Given the description of an element on the screen output the (x, y) to click on. 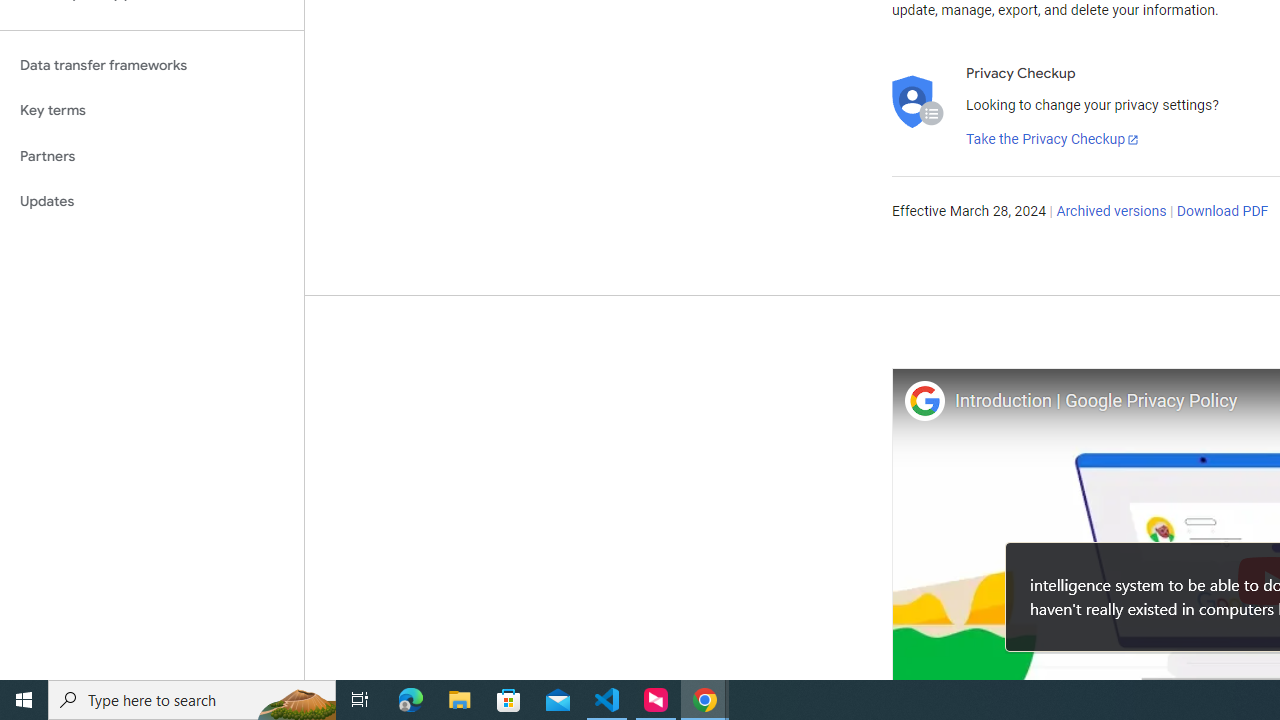
Data transfer frameworks (152, 65)
Archived versions (1111, 212)
Updates (152, 201)
Take the Privacy Checkup (1053, 140)
Key terms (152, 110)
Photo image of Google (924, 400)
Partners (152, 156)
Download PDF (1222, 212)
